Given the description of an element on the screen output the (x, y) to click on. 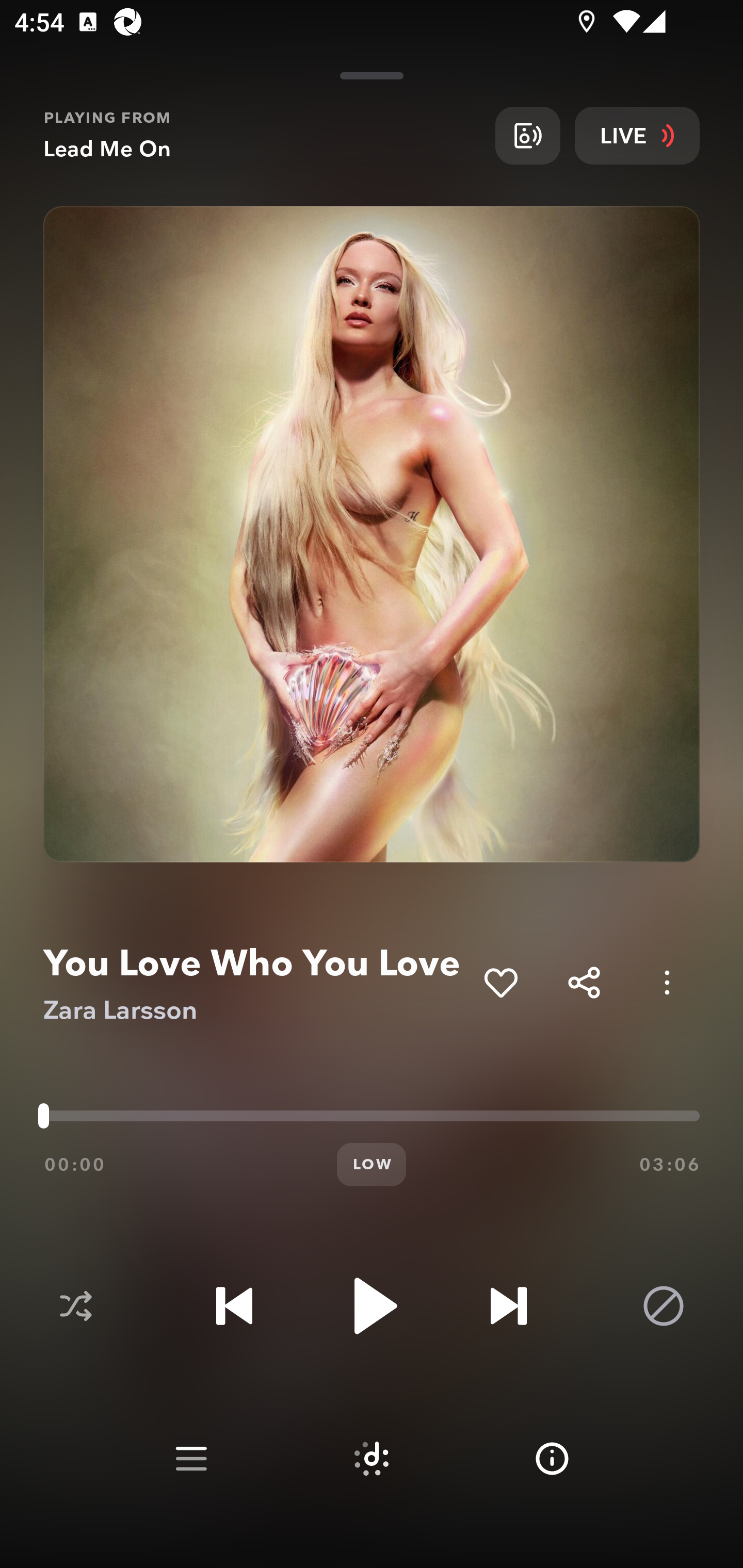
Broadcast (527, 135)
LIVE (637, 135)
PLAYING FROM Lead Me On (261, 135)
You Love Who You Love Zara Larsson (255, 983)
Add to My Collection (500, 982)
Share (583, 982)
Options (666, 982)
LOW (371, 1164)
Play (371, 1306)
Previous (234, 1306)
Next (508, 1306)
Block (663, 1306)
Shuffle disabled (75, 1306)
Play queue (191, 1458)
Suggested tracks (371, 1458)
Info (551, 1458)
